Given the description of an element on the screen output the (x, y) to click on. 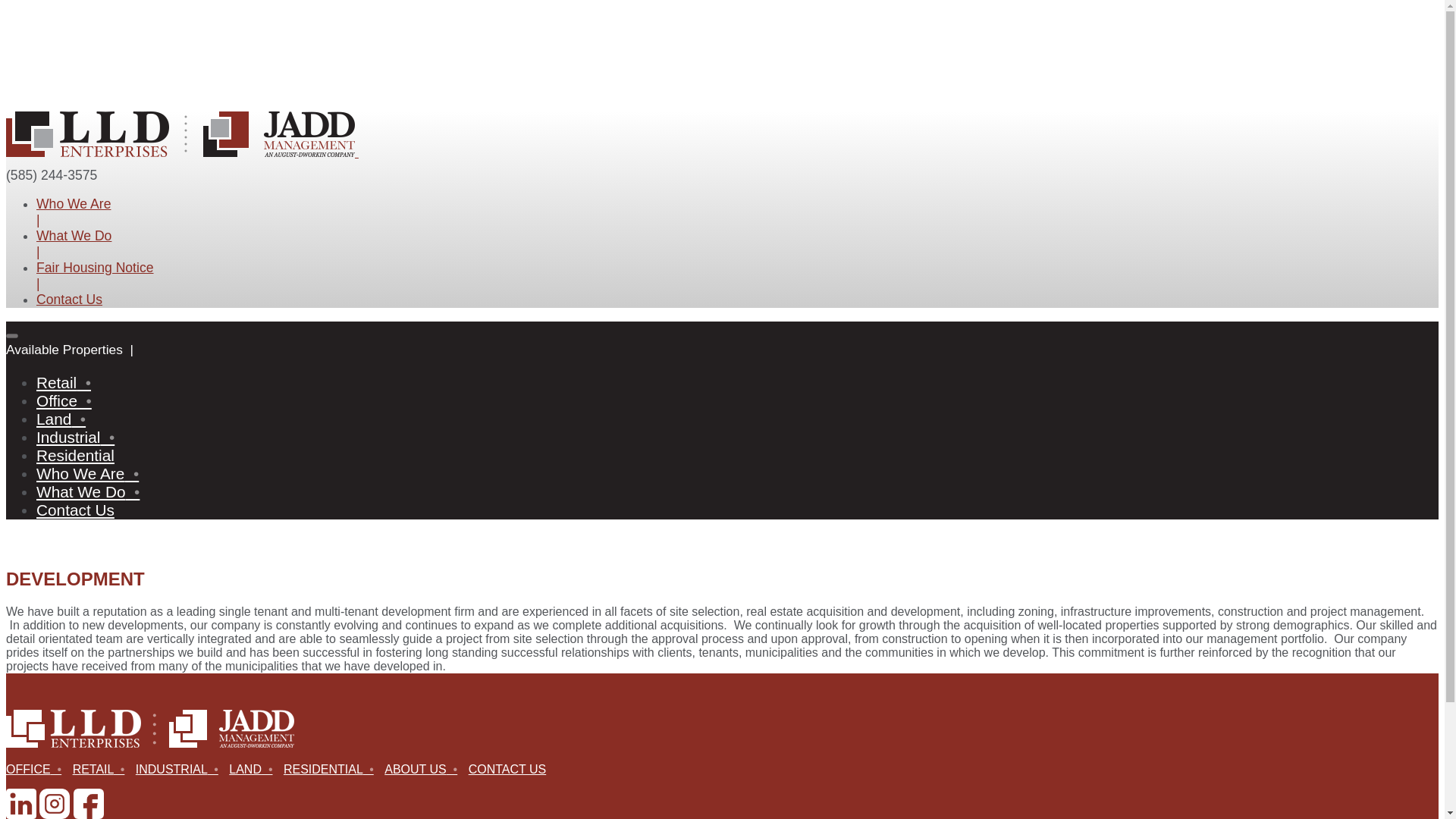
Land (61, 418)
Who We Are (73, 203)
CONTACT US (511, 768)
What We Do (74, 235)
RESIDENTIAL (332, 768)
Retail (64, 382)
LAND (253, 768)
Contact Us (76, 509)
INDUSTRIAL (180, 768)
Fair Housing Notice (95, 267)
Industrial (76, 436)
OFFICE (36, 768)
ABOUT US (424, 768)
Residential (76, 455)
Contact Us (68, 299)
